Given the description of an element on the screen output the (x, y) to click on. 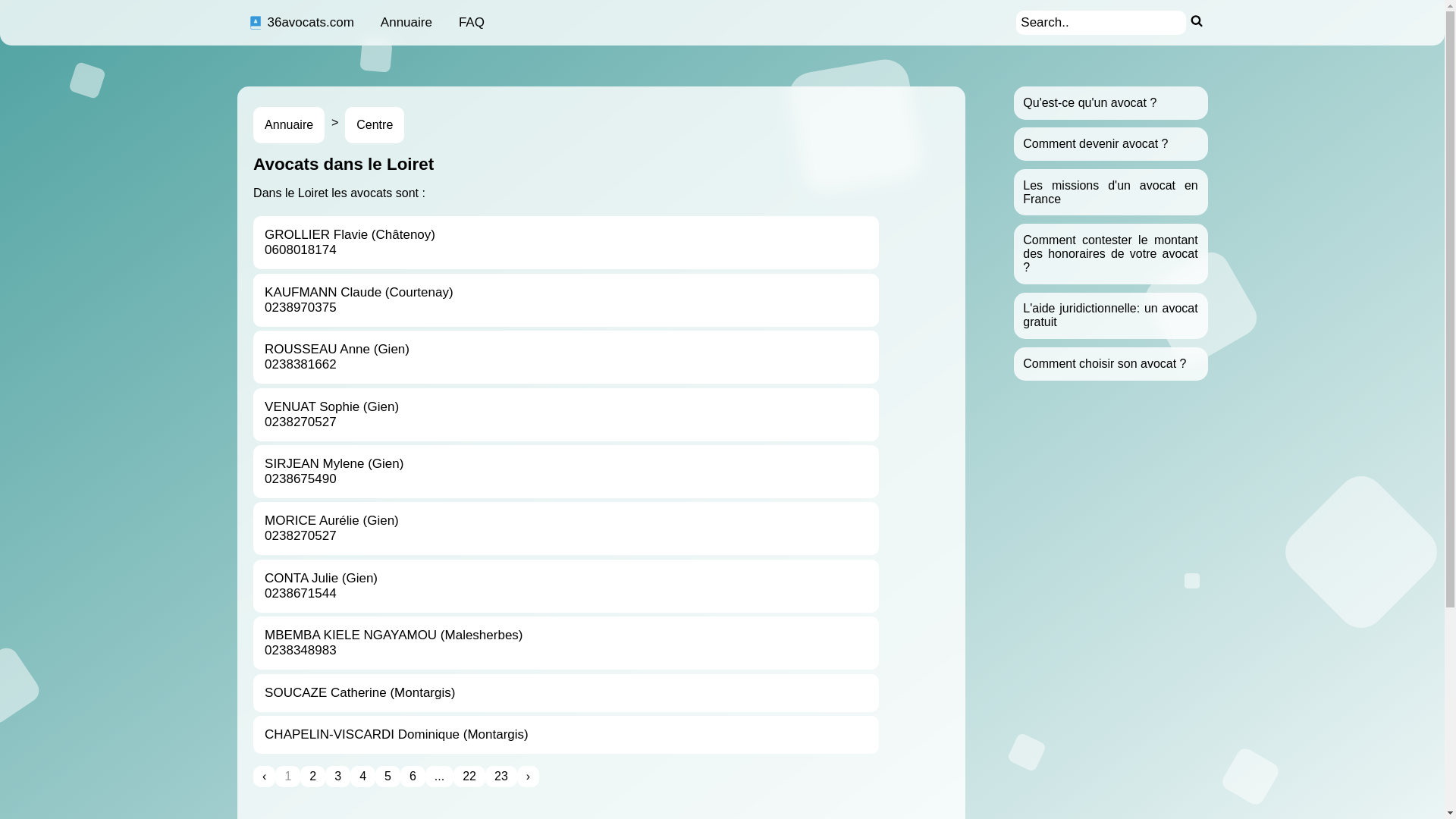
CONTA Julie (Gien)
0238671544 Element type: text (565, 585)
CHAPELIN-VISCARDI Dominique (Montargis) Element type: text (565, 734)
FAQ Element type: text (471, 22)
6 Element type: text (412, 776)
22 Element type: text (469, 776)
Les missions d'un avocat en France Element type: text (1109, 191)
MBEMBA KIELE NGAYAMOU (Malesherbes)
0238348983 Element type: text (565, 642)
2 Element type: text (312, 776)
Comment devenir avocat ? Element type: text (1094, 143)
SOUCAZE Catherine (Montargis) Element type: text (565, 692)
23 Element type: text (501, 776)
Qu'est-ce qu'un avocat ? Element type: text (1089, 102)
4 Element type: text (362, 776)
KAUFMANN Claude (Courtenay)
0238970375 Element type: text (565, 299)
36avocats.com Element type: text (300, 22)
SIRJEAN Mylene (Gien)
0238675490 Element type: text (565, 471)
Annuaire Element type: text (288, 124)
ROUSSEAU Anne (Gien)
0238381662 Element type: text (565, 356)
Centre Element type: text (374, 124)
5 Element type: text (387, 776)
Comment choisir son avocat ? Element type: text (1104, 363)
Annuaire Element type: text (406, 22)
L'aide juridictionnelle: un avocat gratuit Element type: text (1109, 314)
3 Element type: text (337, 776)
VENUAT Sophie (Gien)
0238270527 Element type: text (565, 414)
